Given the description of an element on the screen output the (x, y) to click on. 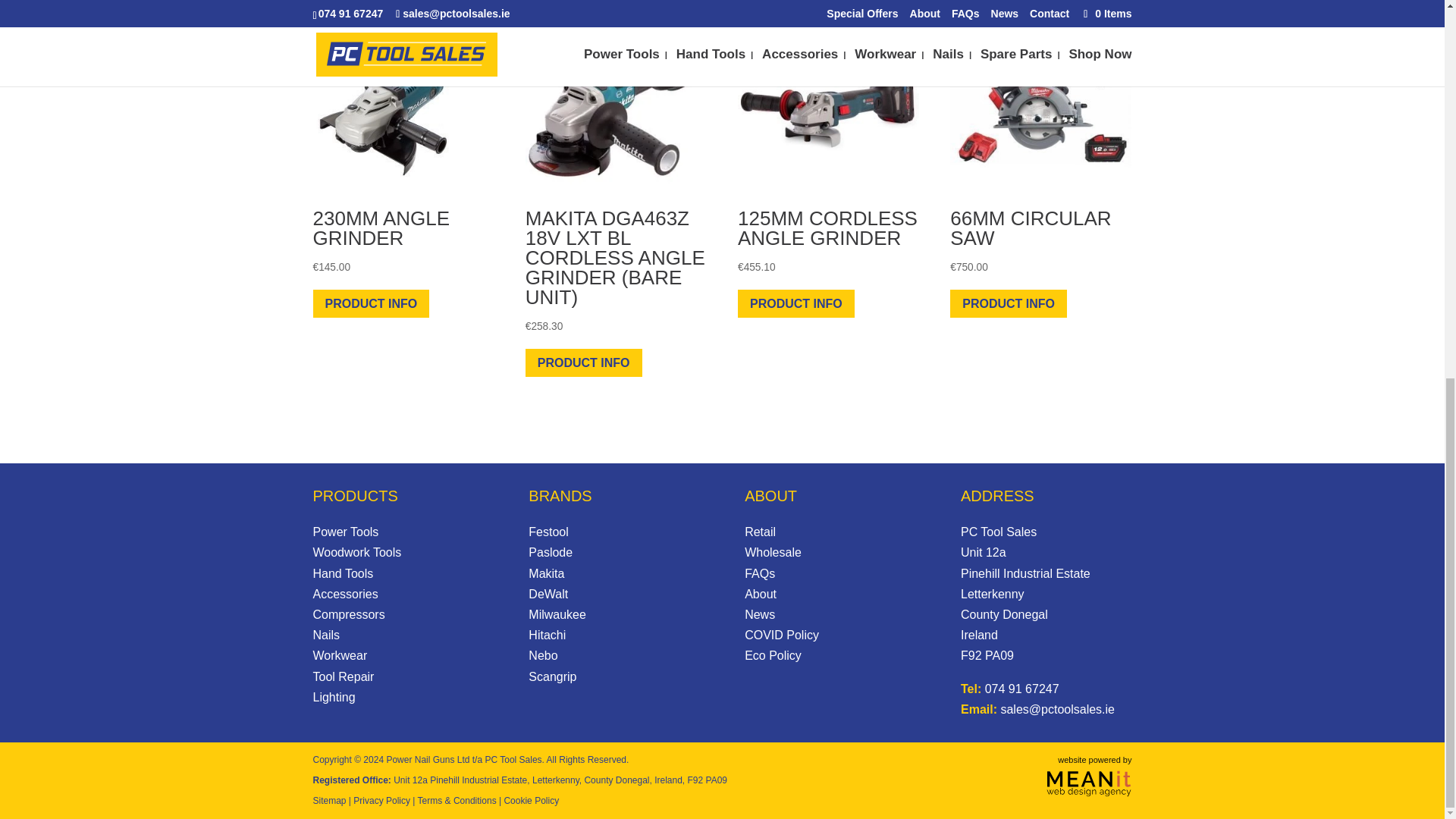
PRODUCT INFO (796, 303)
Tool Repair (343, 676)
Hand Tools (342, 573)
PRODUCT INFO (583, 362)
PRODUCT INFO (371, 303)
MEANit-Web-Design-Donegal (1089, 783)
Nails (326, 634)
Power Tools (345, 531)
Paslode (550, 552)
Festool (547, 531)
